Given the description of an element on the screen output the (x, y) to click on. 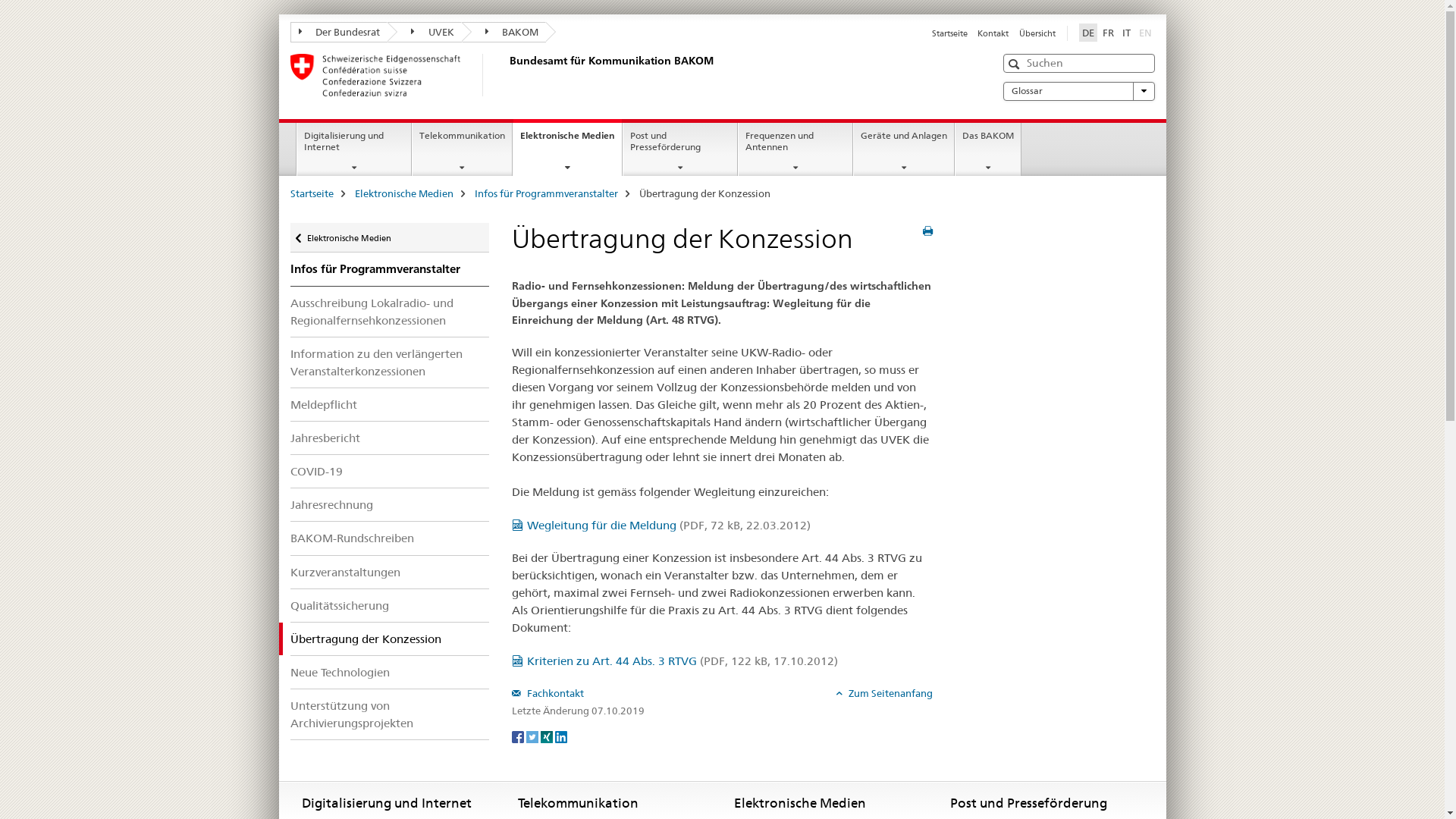
Kurzveranstaltungen Element type: text (389, 571)
Fachkontakt Element type: text (547, 693)
Kontakt Element type: text (992, 33)
Startseite Element type: text (949, 33)
DE Element type: text (1087, 32)
Das BAKOM Element type: text (987, 148)
Telekommunikation Element type: text (461, 148)
Digitalisierung und Internet Element type: text (354, 148)
Seite drucken Element type: hover (927, 230)
Suche Element type: text (1015, 63)
UVEK Element type: text (424, 31)
Frequenzen und Antennen Element type: text (795, 148)
Elektronische Medien
current page Element type: text (567, 147)
FR Element type: text (1108, 32)
BAKOM-Rundschreiben Element type: text (389, 537)
Glossar Element type: text (1078, 90)
Startseite Element type: text (310, 193)
Ausschreibung Lokalradio- und Regionalfernsehkonzessionen Element type: text (389, 311)
Jahresbericht Element type: text (389, 437)
Zum Seitenanfang Element type: text (884, 693)
BAKOM Element type: text (503, 31)
COVID-19 Element type: text (389, 471)
EN
disabled Element type: text (1144, 32)
Meldepflicht Element type: text (389, 404)
Elektronische Medien Element type: text (403, 193)
IT Element type: text (1126, 32)
Kriterien zu Art. 44 Abs. 3 RTVG (PDF, 122 kB, 17.10.2012) Element type: text (674, 660)
Der Bundesrat Element type: text (338, 31)
Neue Technologien Element type: text (389, 671)
Jahresrechnung Element type: text (389, 504)
